Given the description of an element on the screen output the (x, y) to click on. 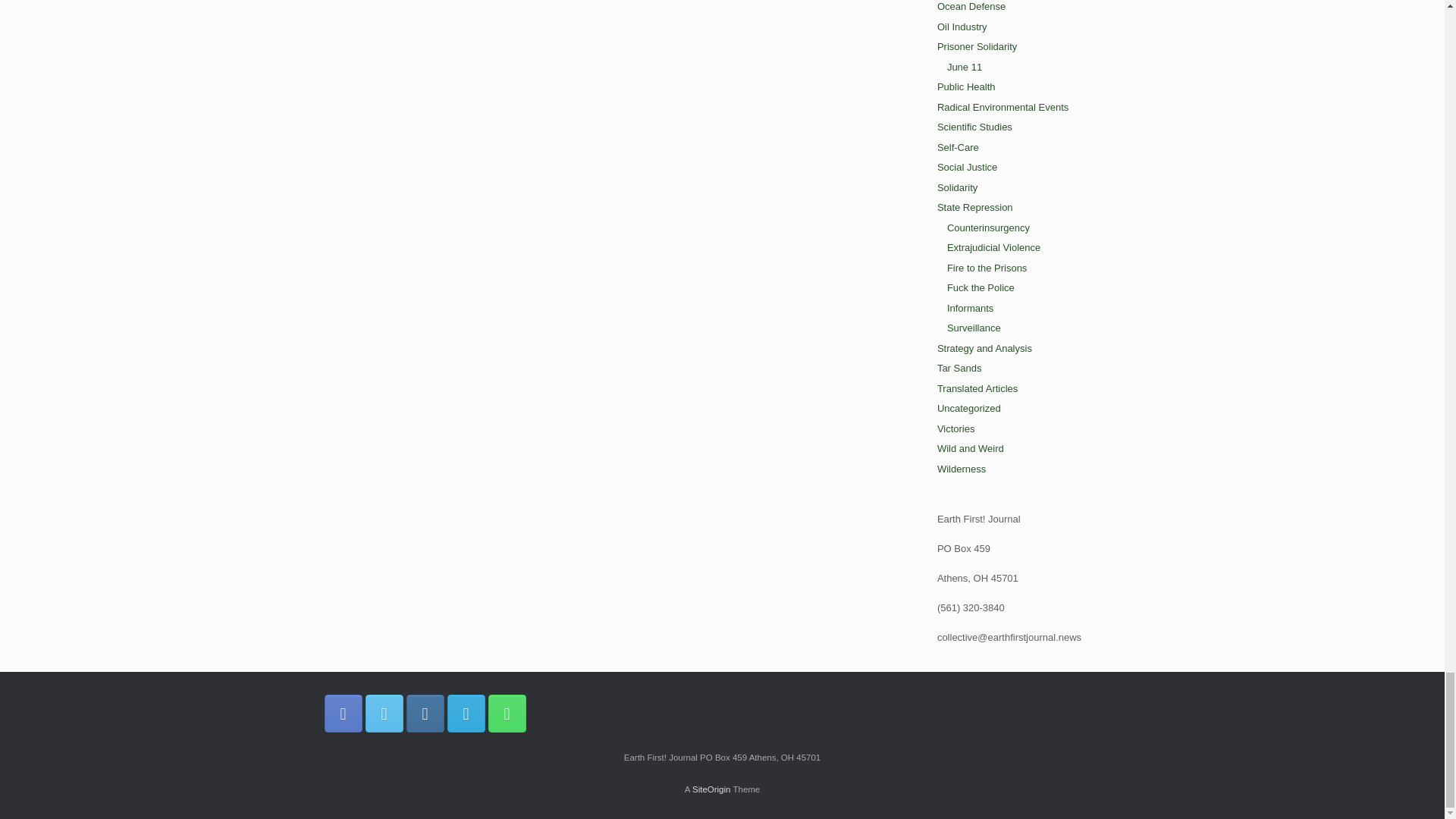
Earth First! Journal Instagram (425, 712)
Earth First! Journal Email (465, 712)
Earth First! Journal Twitter (384, 712)
Earth First! Journal Phone (506, 712)
Earth First! Journal Facebook (343, 712)
